Given the description of an element on the screen output the (x, y) to click on. 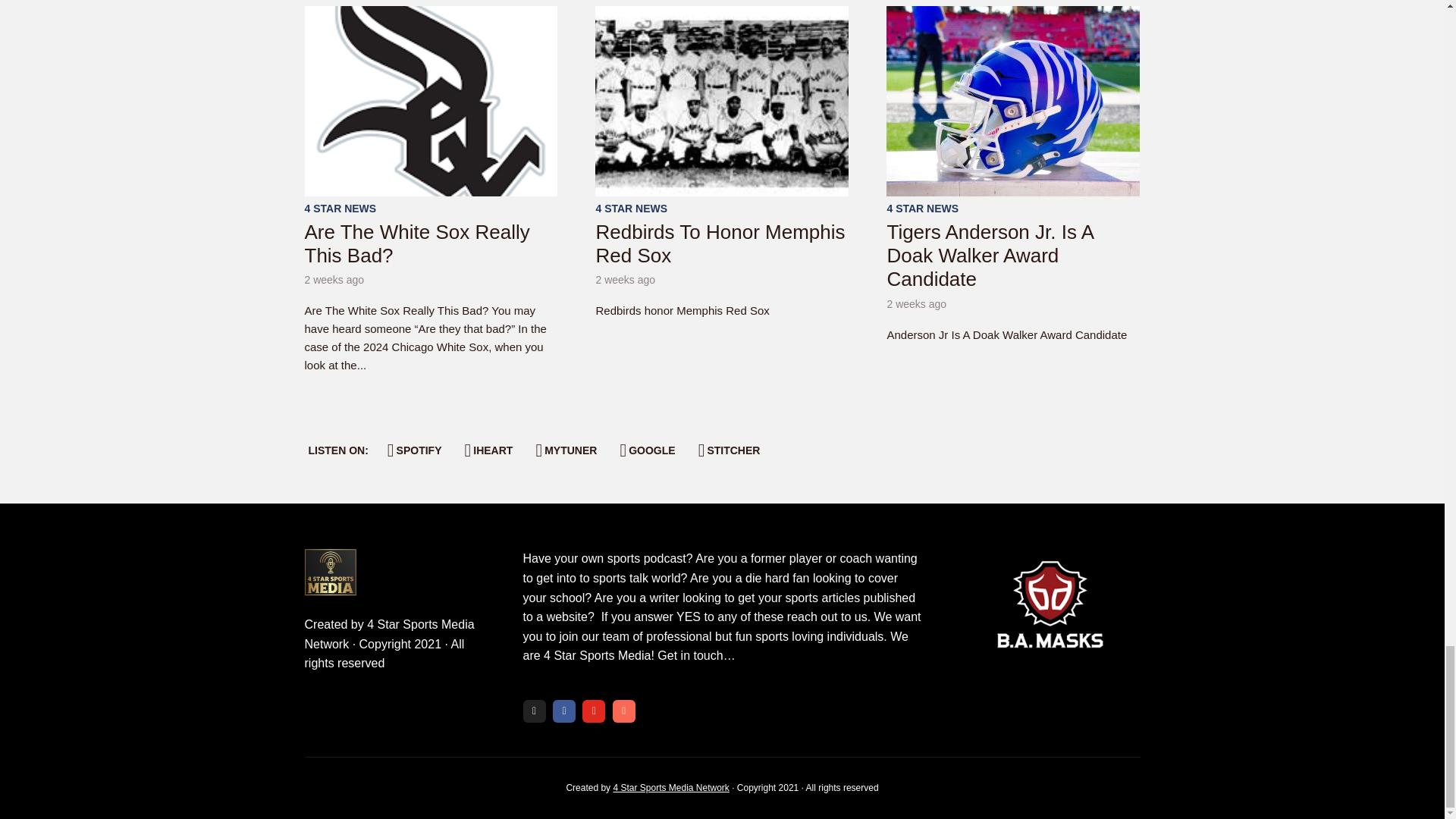
YouTube (593, 711)
Patreon (623, 711)
Facebook (564, 711)
